Given the description of an element on the screen output the (x, y) to click on. 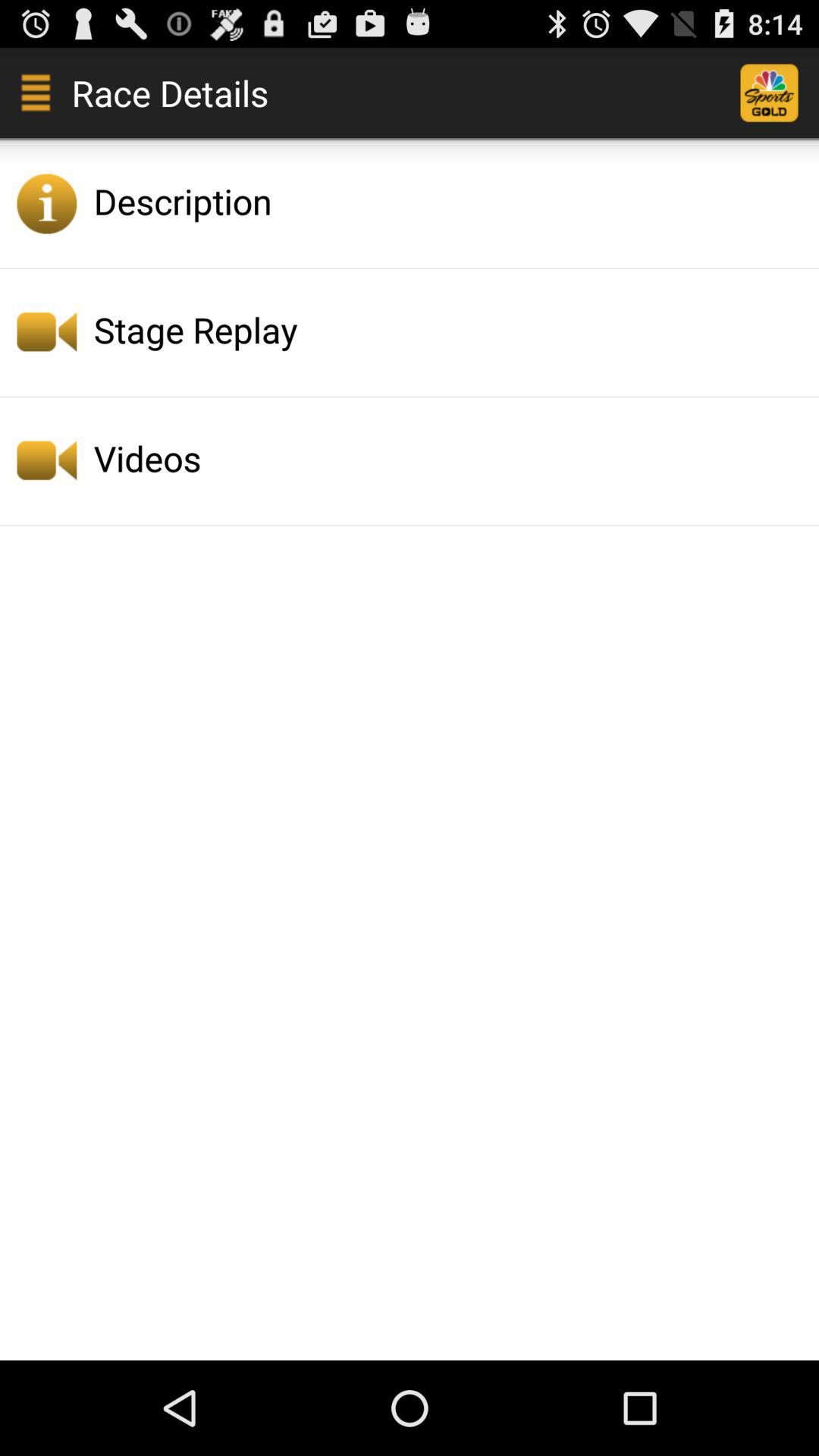
turn on stage replay item (452, 329)
